Given the description of an element on the screen output the (x, y) to click on. 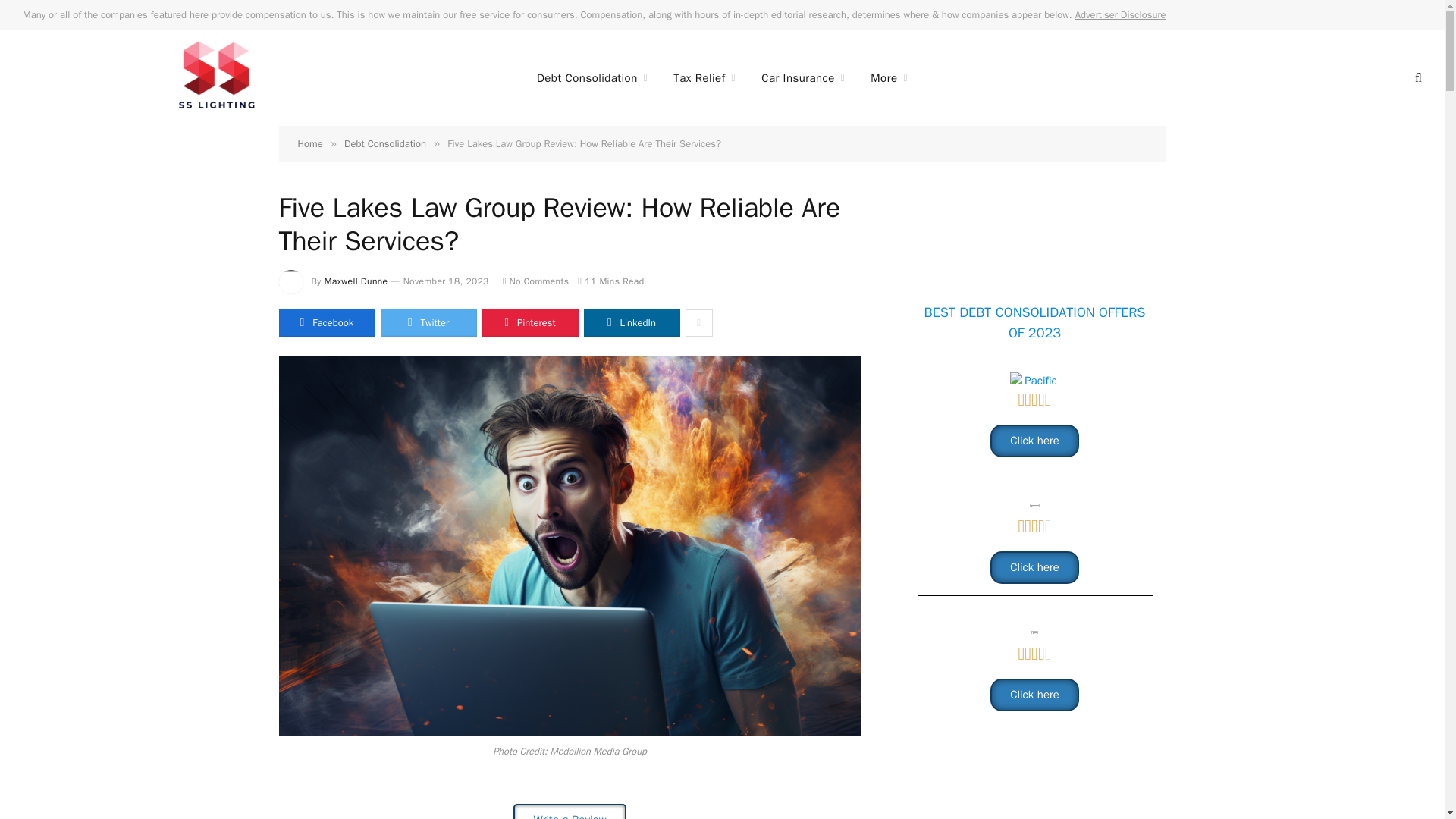
Car Insurance (802, 78)
Show More Social Sharing (699, 322)
Posts by Maxwell Dunne (356, 281)
Share on Pinterest (529, 322)
Debt Consolidation (592, 78)
SS Lighting (216, 78)
Share on LinkedIn (631, 322)
Tax Relief (704, 78)
Advertiser Disclosure (1120, 14)
Share on Facebook (327, 322)
